Given the description of an element on the screen output the (x, y) to click on. 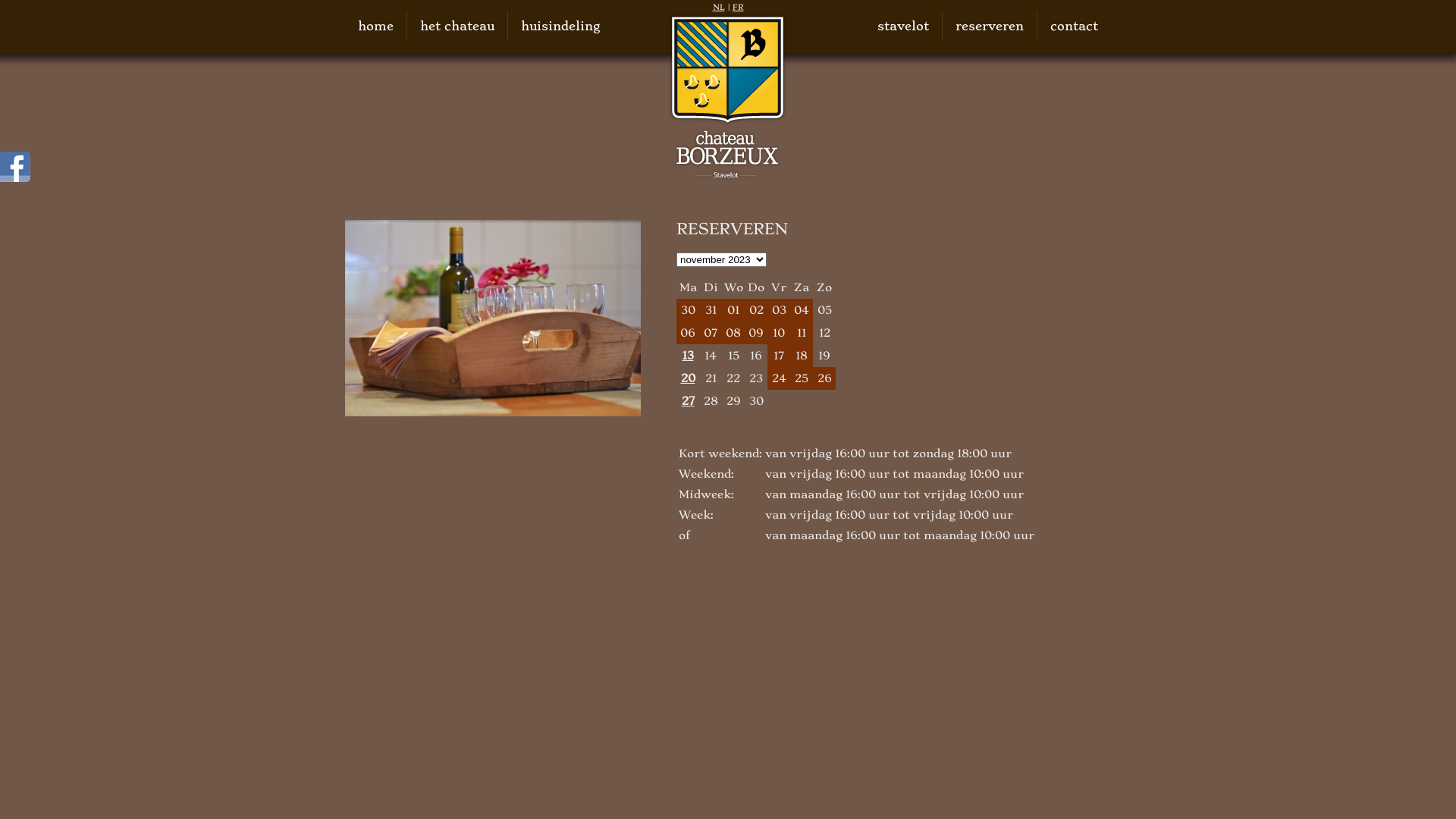
20 Element type: text (687, 378)
contact Element type: text (1074, 25)
het chateau Element type: text (457, 25)
stavelot Element type: text (902, 25)
huisindeling Element type: text (559, 25)
13 Element type: text (687, 355)
Chateux Borzeux Stavelot, Vakantiewoning Ardennen Element type: text (727, 96)
home Element type: text (375, 25)
NL Element type: text (718, 7)
reserveren Element type: text (989, 25)
FR Element type: text (737, 7)
27 Element type: text (687, 400)
